Given the description of an element on the screen output the (x, y) to click on. 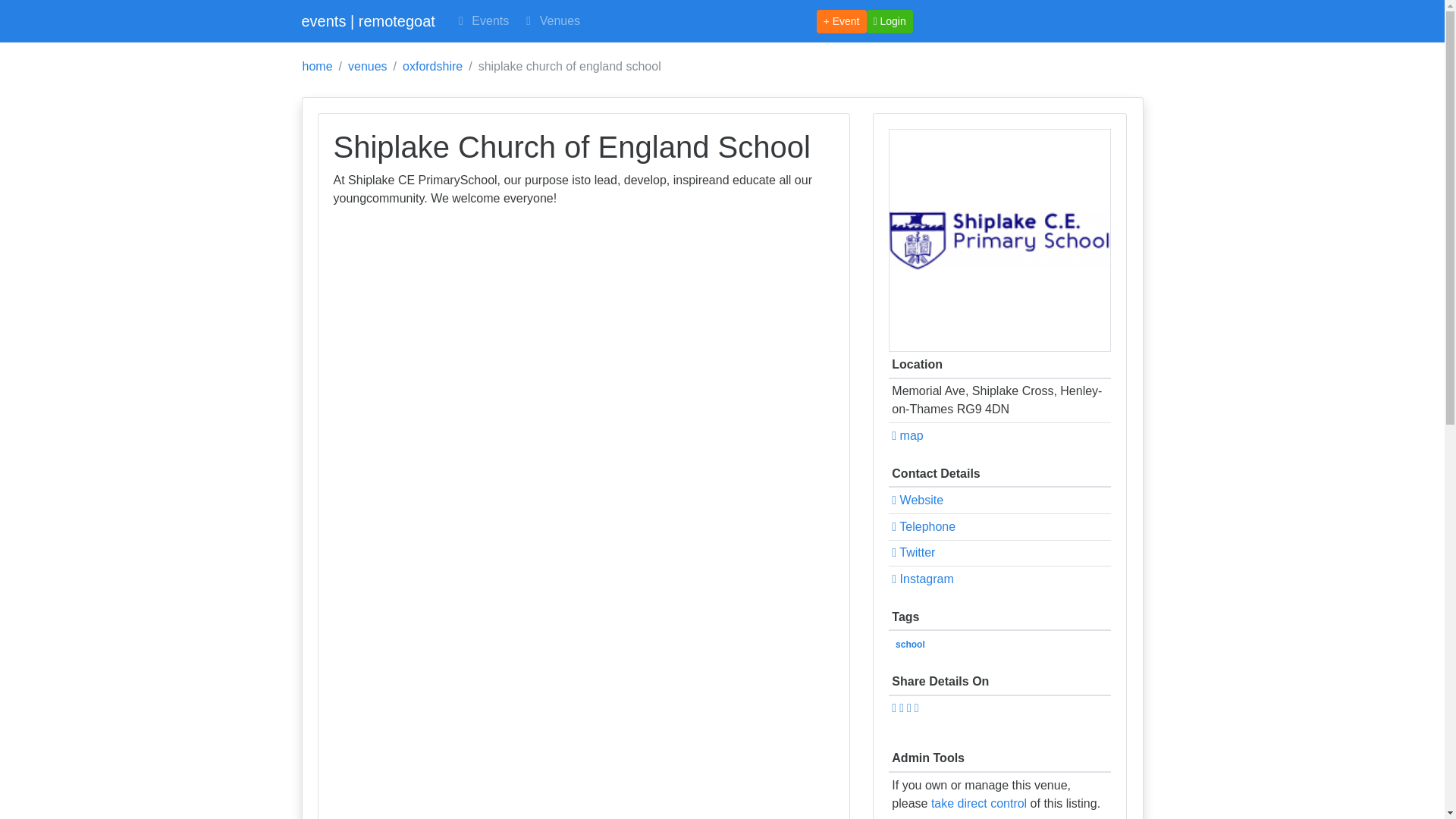
Instagram (922, 578)
Login (889, 20)
home (316, 66)
Login (889, 20)
map (907, 435)
Venues (550, 20)
Website (917, 499)
Show on google maps (907, 435)
Telephone (923, 526)
Show school venues (909, 644)
